Given the description of an element on the screen output the (x, y) to click on. 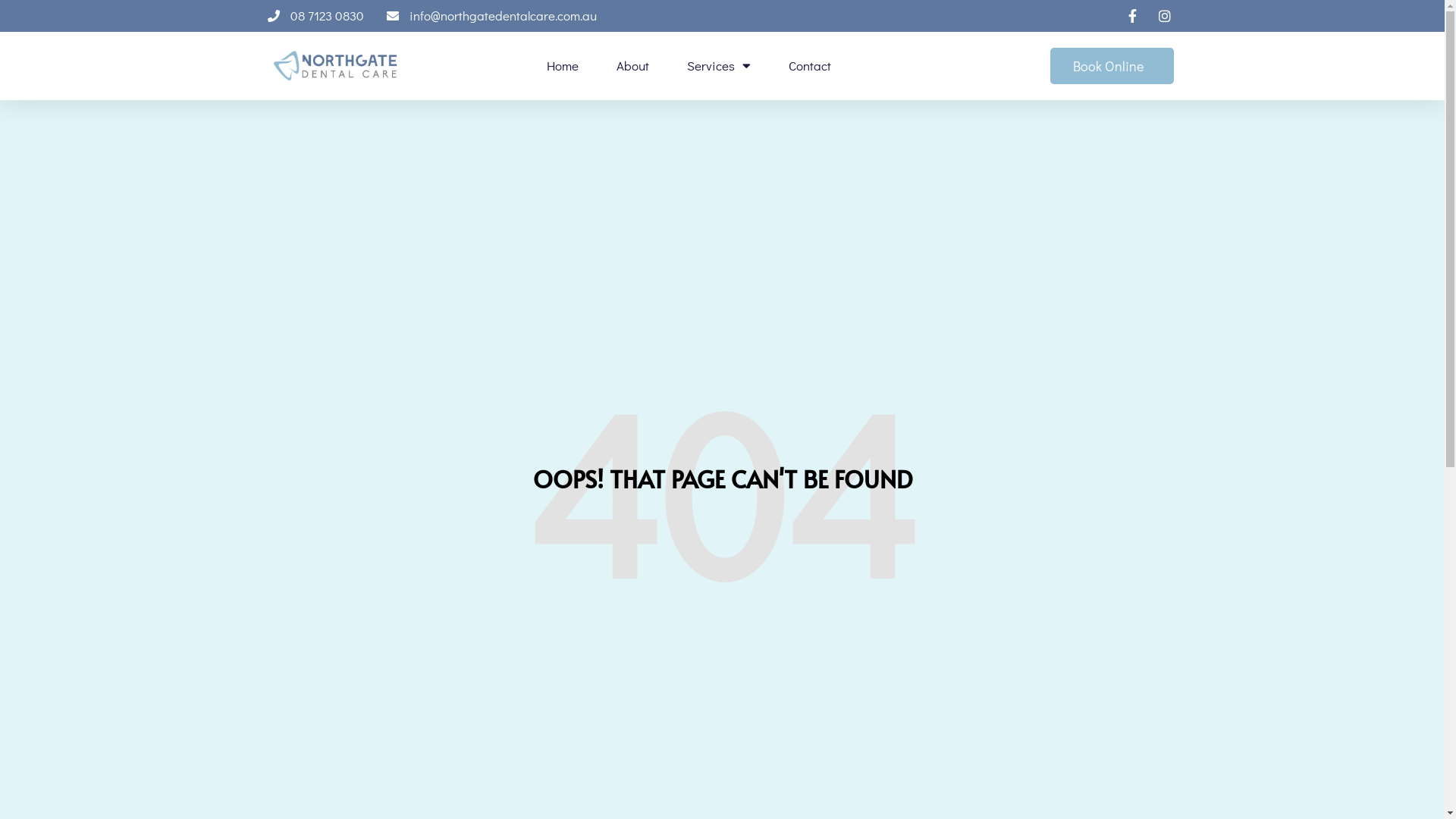
info@northgatedentalcare.com.au Element type: text (491, 15)
Contact Element type: text (809, 65)
About Element type: text (632, 65)
Book Online Element type: text (1111, 65)
Home Element type: text (562, 65)
08 7123 0830 Element type: text (314, 15)
Services Element type: text (718, 65)
